Given the description of an element on the screen output the (x, y) to click on. 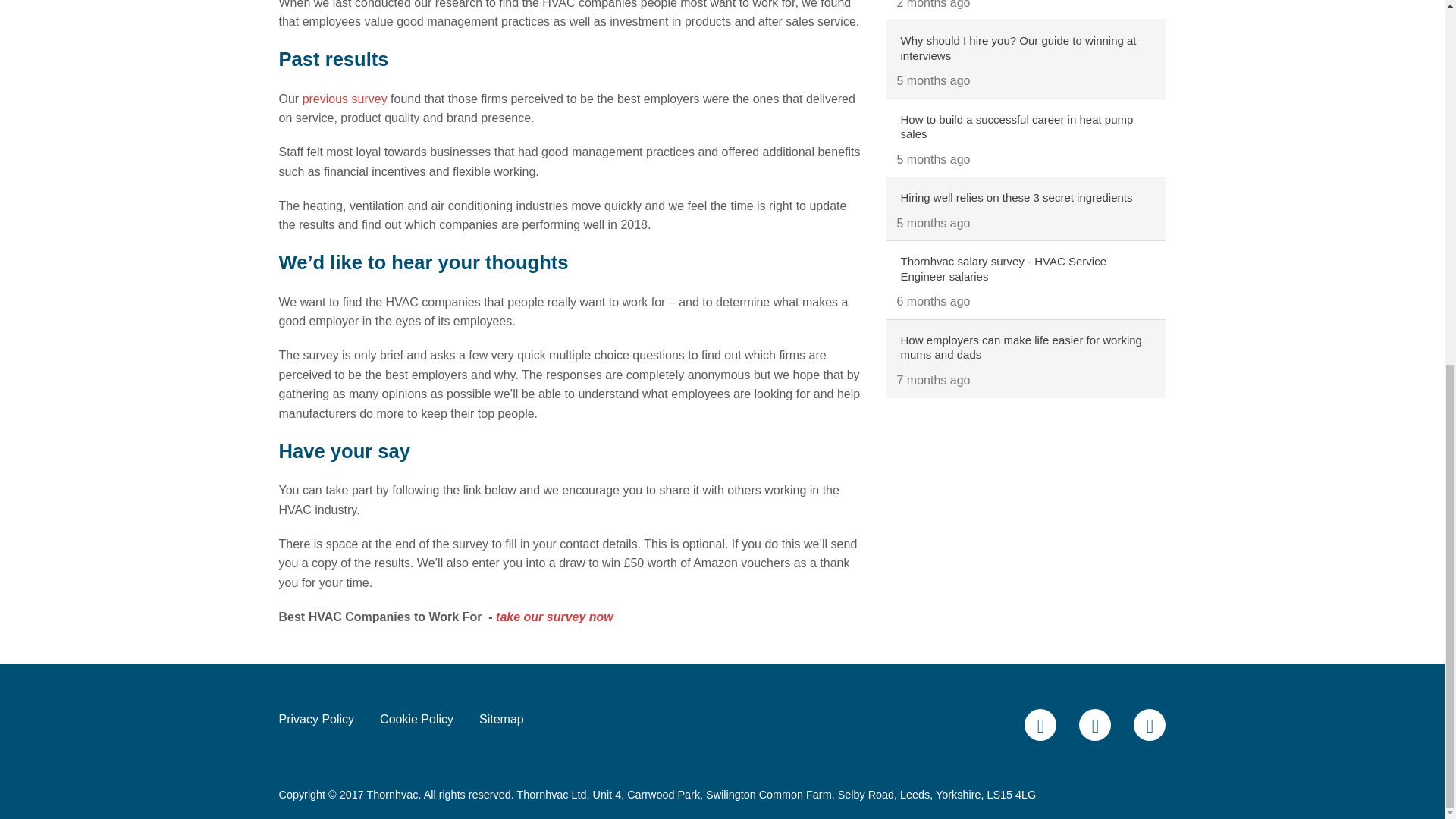
previous survey (344, 98)
take our survey now (554, 616)
